Given the description of an element on the screen output the (x, y) to click on. 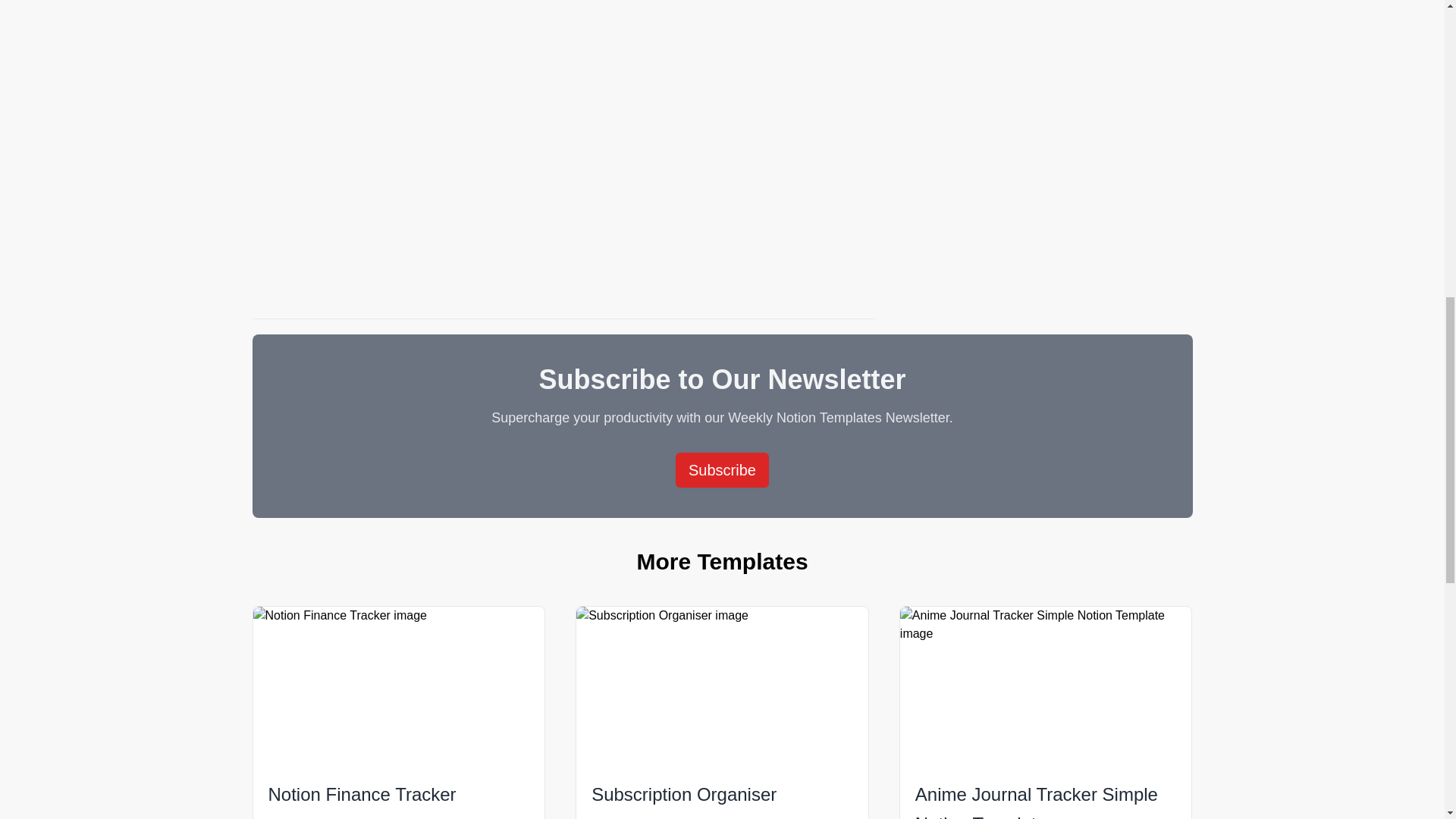
Subscribe (721, 469)
